Given the description of an element on the screen output the (x, y) to click on. 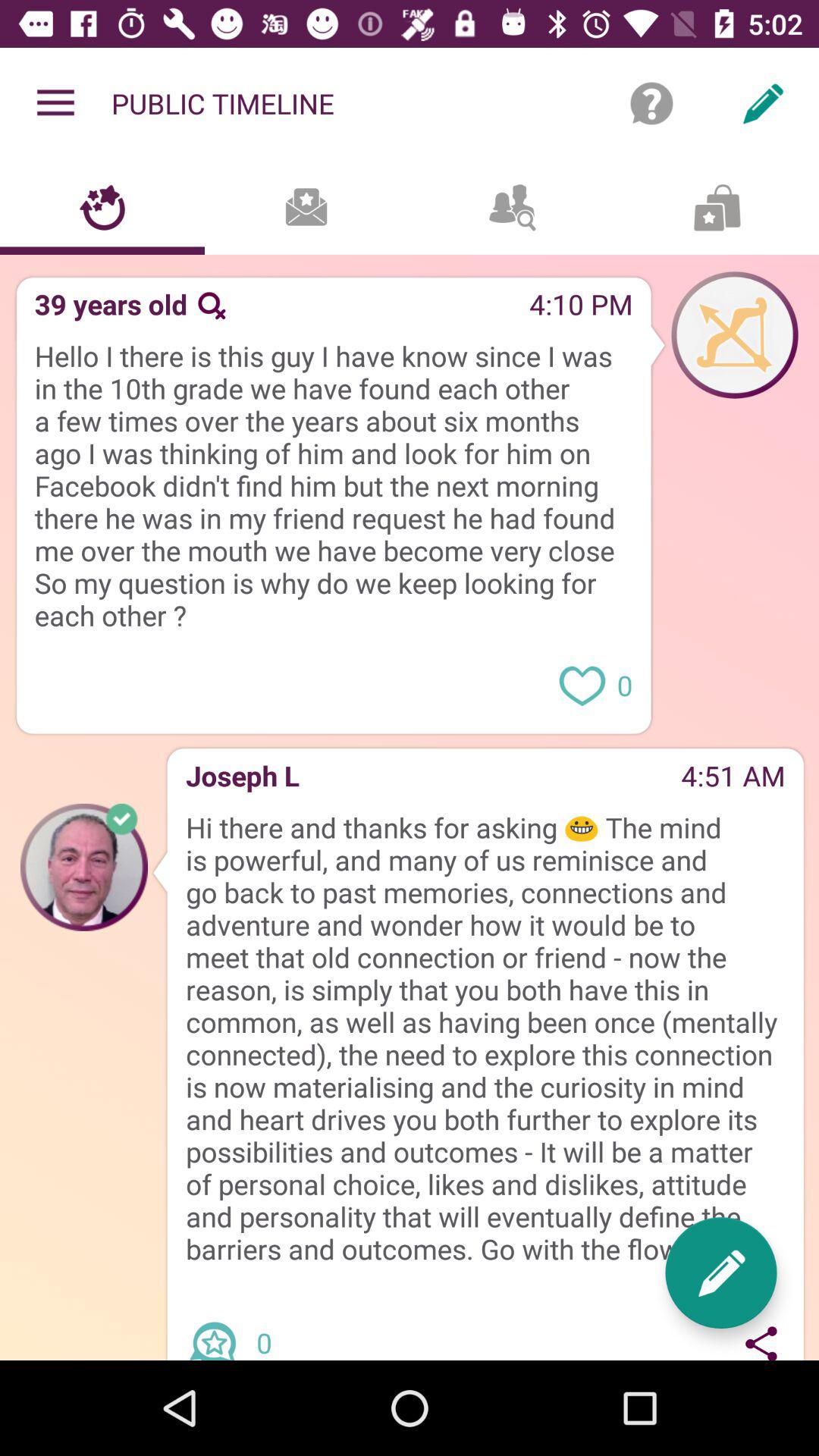
a shortcurt to write a new message (720, 1272)
